Given the description of an element on the screen output the (x, y) to click on. 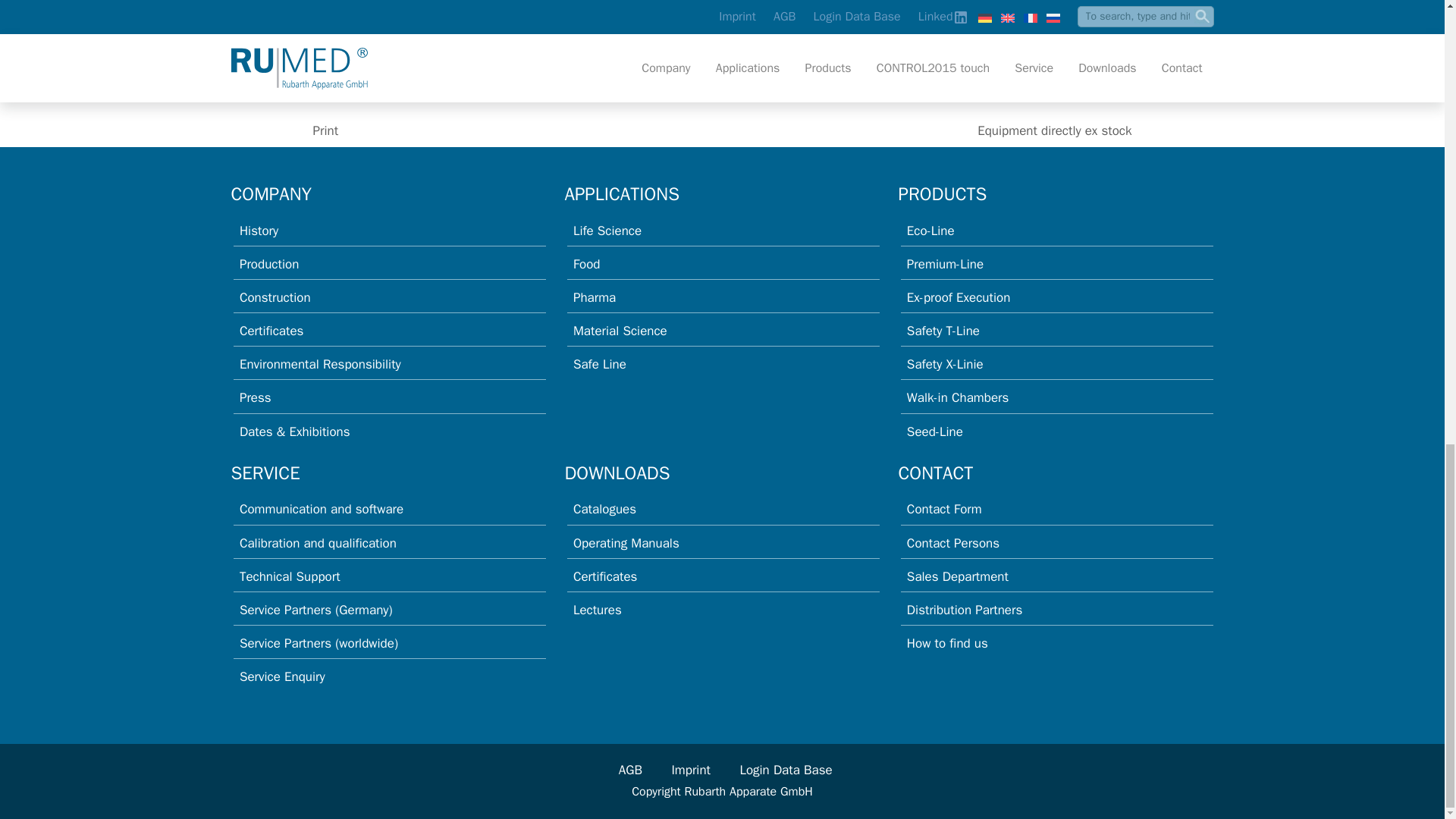
Environmental Responsibility (320, 364)
Production (269, 263)
Walk-in Chambers (958, 397)
Food (586, 263)
Safe Line (599, 364)
Certificates (272, 330)
Pharma (594, 297)
Construction (275, 297)
Premium-Line (945, 263)
Communication and software (321, 508)
Material Science (619, 330)
Life Science (607, 230)
Seed-Line (934, 431)
Safety X-Linie (945, 364)
History (259, 230)
